Given the description of an element on the screen output the (x, y) to click on. 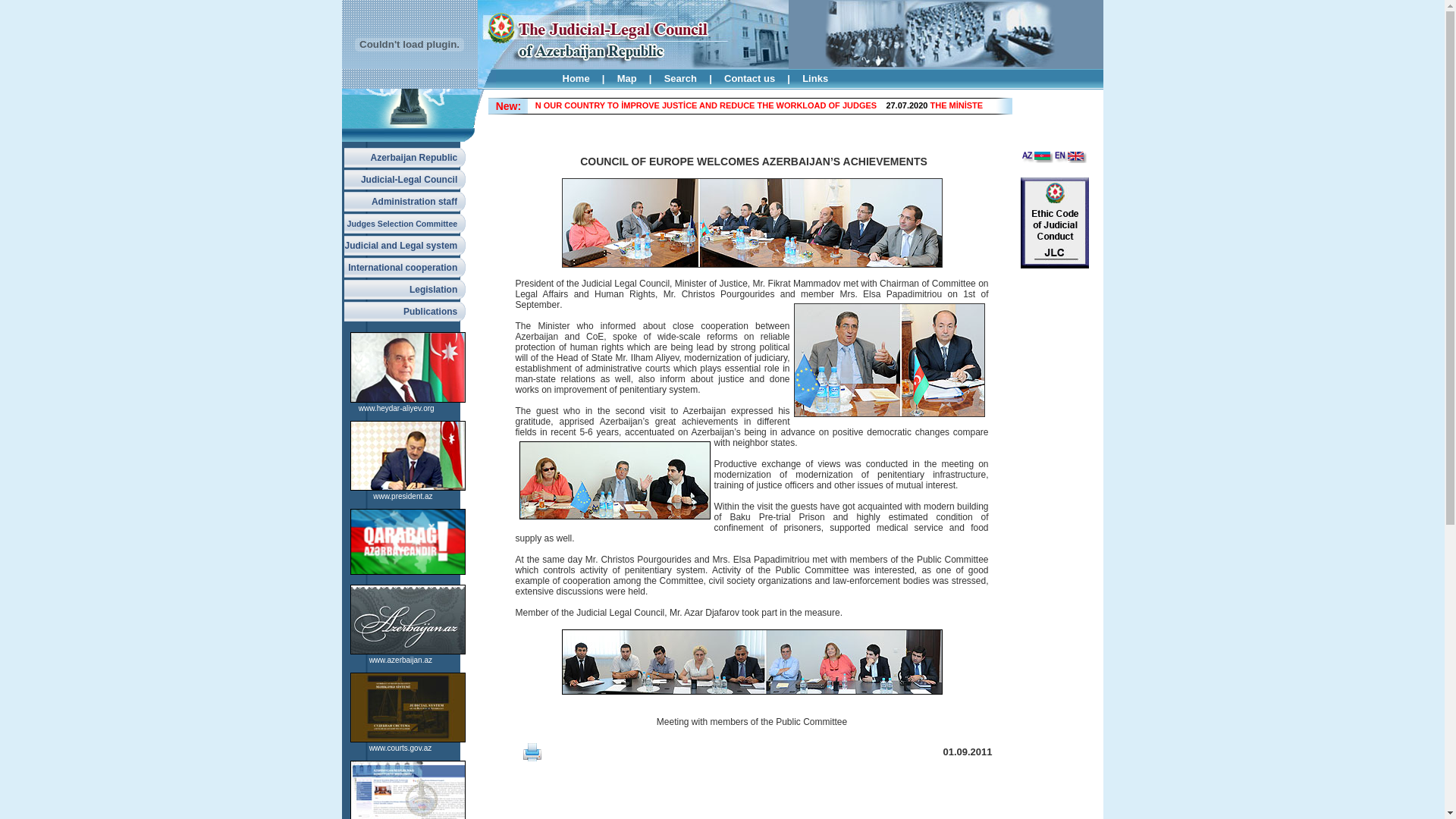
www.azerbaijan.az Element type: text (400, 659)
Home Element type: text (575, 78)
Links Element type: text (815, 78)
Administration staff Element type: text (405, 201)
Judicial-Legal Council Element type: text (405, 179)
Contact us Element type: text (749, 78)
www.courts.gov.az Element type: text (400, 747)
Search Element type: text (680, 78)
Legislation Element type: text (405, 289)
Publications Element type: text (405, 311)
www.heydar-aliyev.org Element type: text (396, 408)
Judges Selection Committee Element type: text (405, 223)
Judicial and Legal system Element type: text (405, 245)
Map Element type: text (627, 78)
International cooperation Element type: text (405, 267)
www.president.az Element type: text (402, 496)
Azerbaijan Republic Element type: text (405, 157)
